Given the description of an element on the screen output the (x, y) to click on. 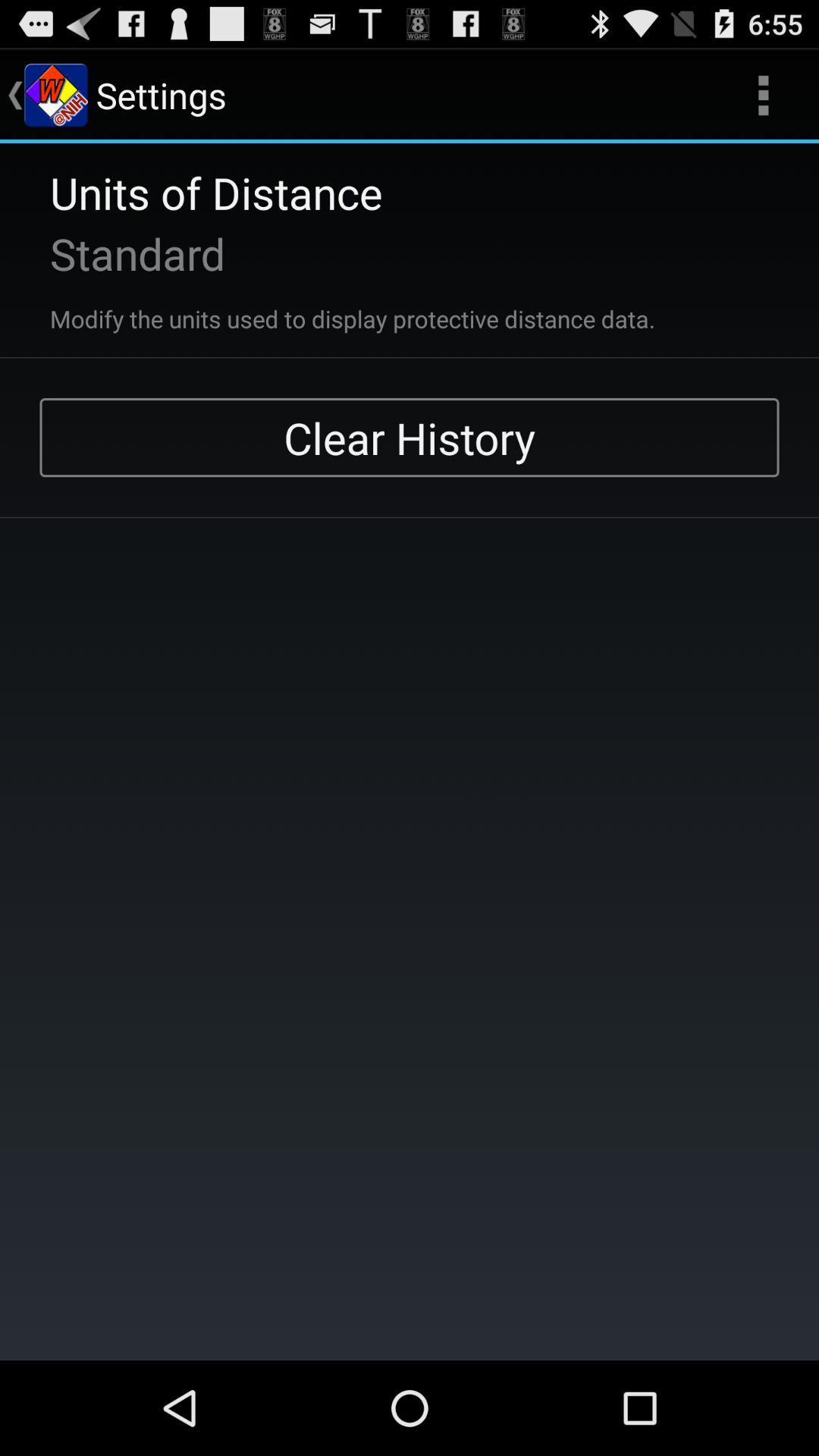
press the item at the top right corner (763, 95)
